Given the description of an element on the screen output the (x, y) to click on. 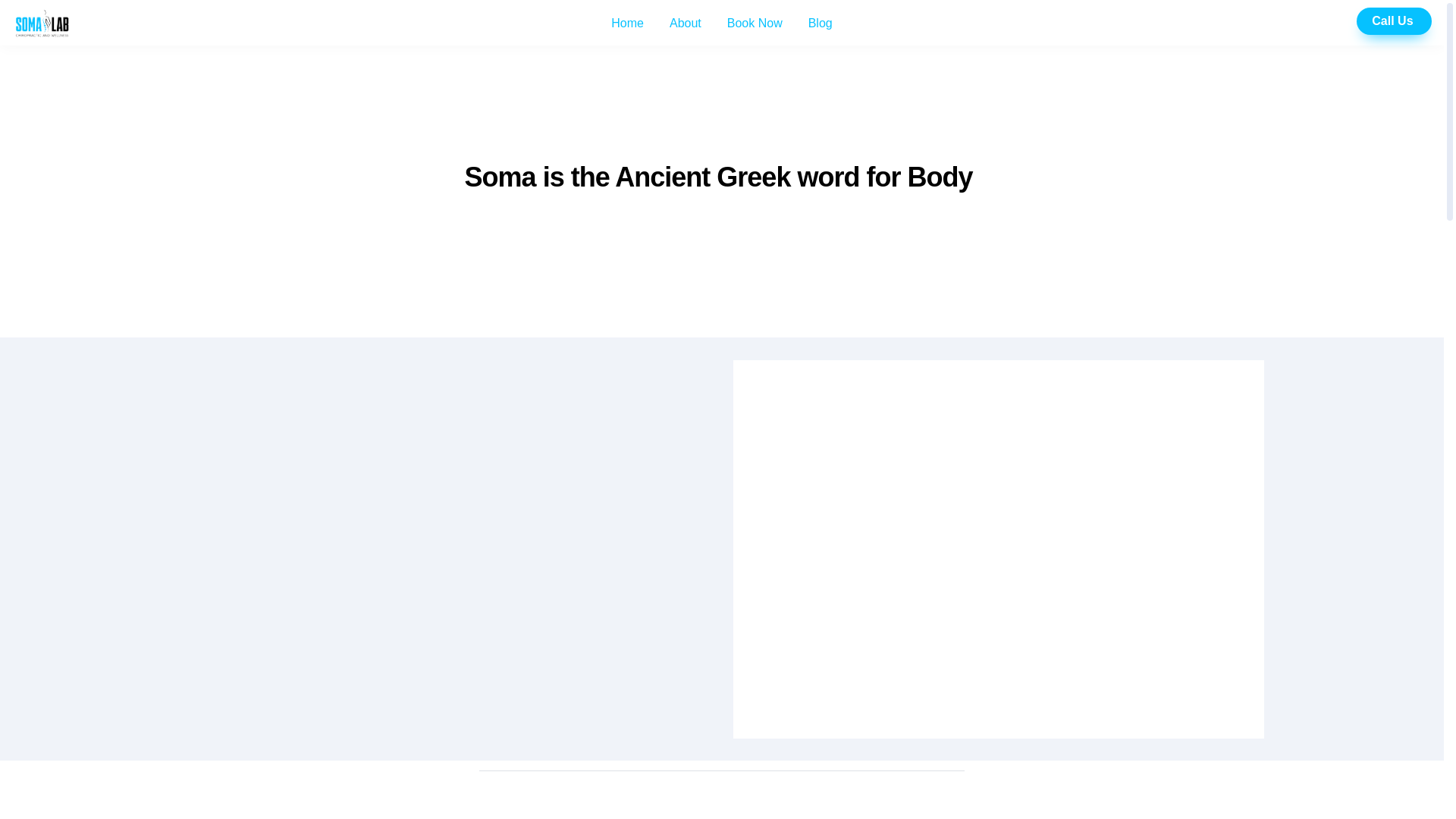
Call Us  (1393, 21)
Home (627, 23)
Blog (820, 23)
Book Now (754, 23)
About (685, 23)
